Given the description of an element on the screen output the (x, y) to click on. 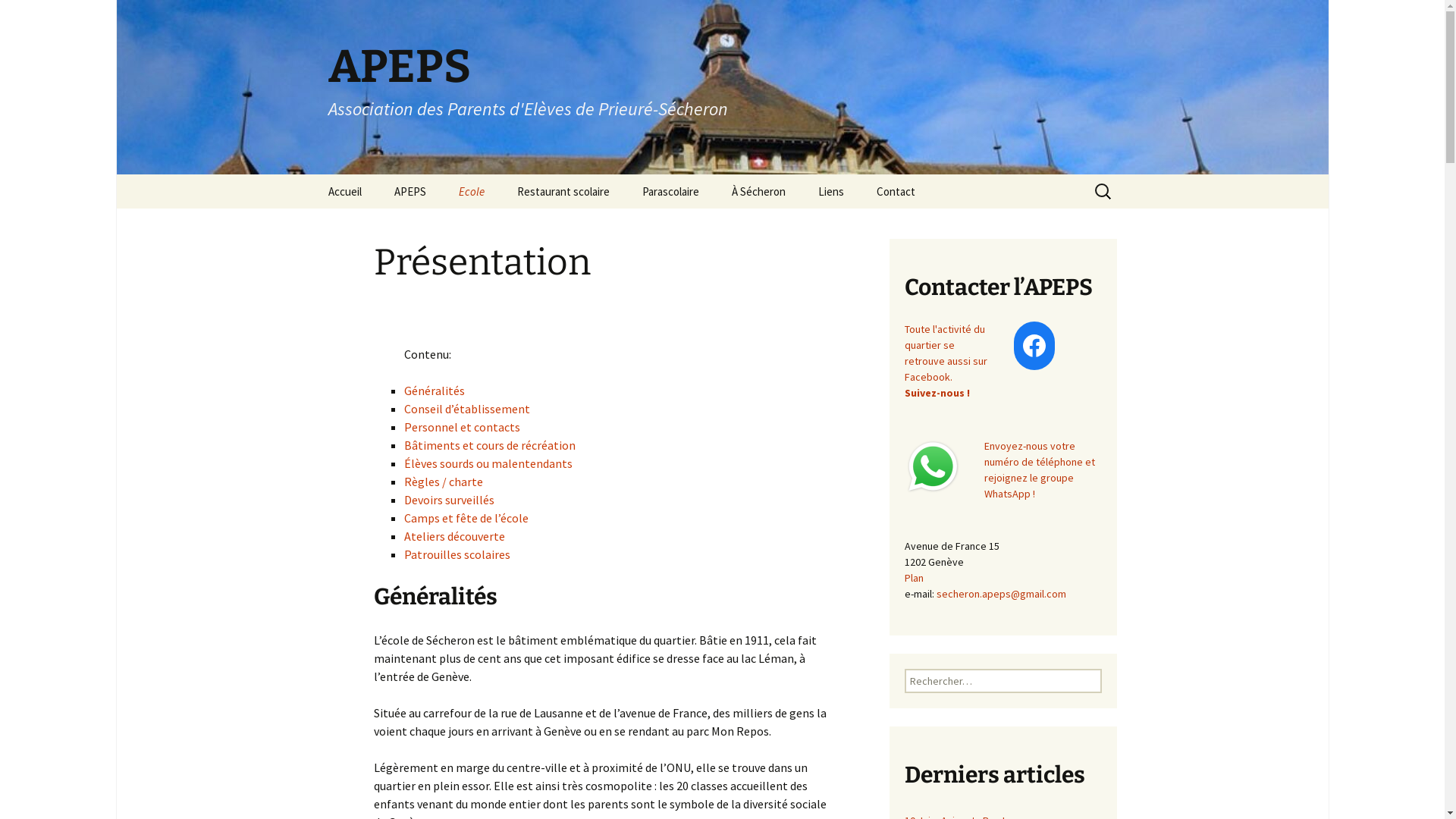
secheron.apeps@gmail.com Element type: text (1000, 593)
Plan Element type: text (912, 577)
Ecole Element type: text (470, 191)
Contact Element type: text (895, 191)
Personnel et contacts Element type: text (461, 426)
Rechercher Element type: text (44, 15)
Rechercher Element type: text (18, 16)
Jeux et culture Element type: text (791, 225)
Accueil Element type: text (344, 191)
Patrouilles scolaires Element type: text (456, 553)
Liens Element type: text (830, 191)
Facebook Element type: text (1033, 345)
Parascolaire Element type: text (669, 191)
APEPS Element type: text (410, 191)
Aller au contenu Element type: text (312, 173)
Restaurant scolaire Element type: text (563, 191)
